Given the description of an element on the screen output the (x, y) to click on. 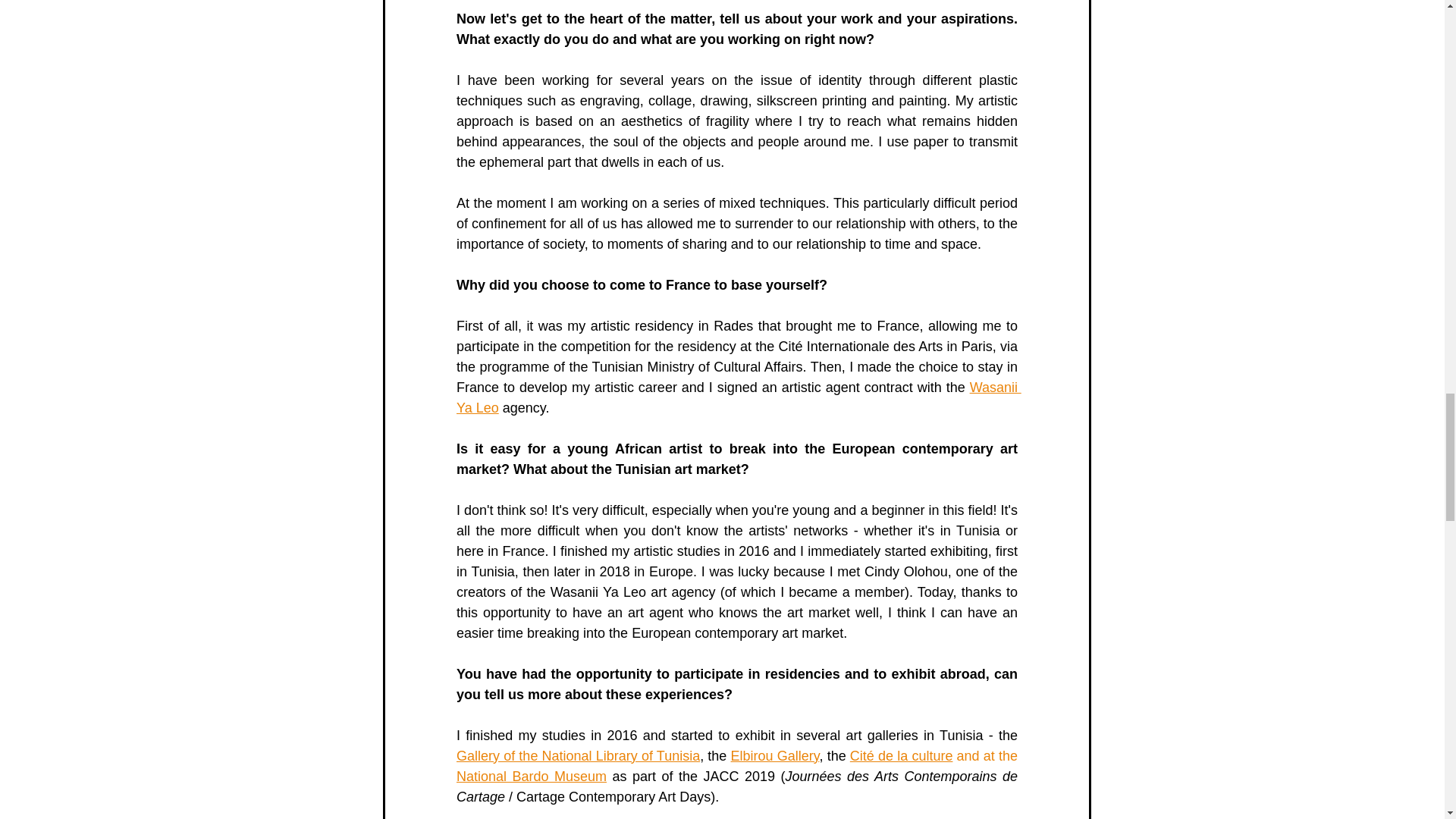
Elbirou Gallery (774, 755)
Gallery of the National Library of Tunisia (578, 755)
National Bardo Museum (532, 776)
Wasanii Ya Leo (739, 397)
